Given the description of an element on the screen output the (x, y) to click on. 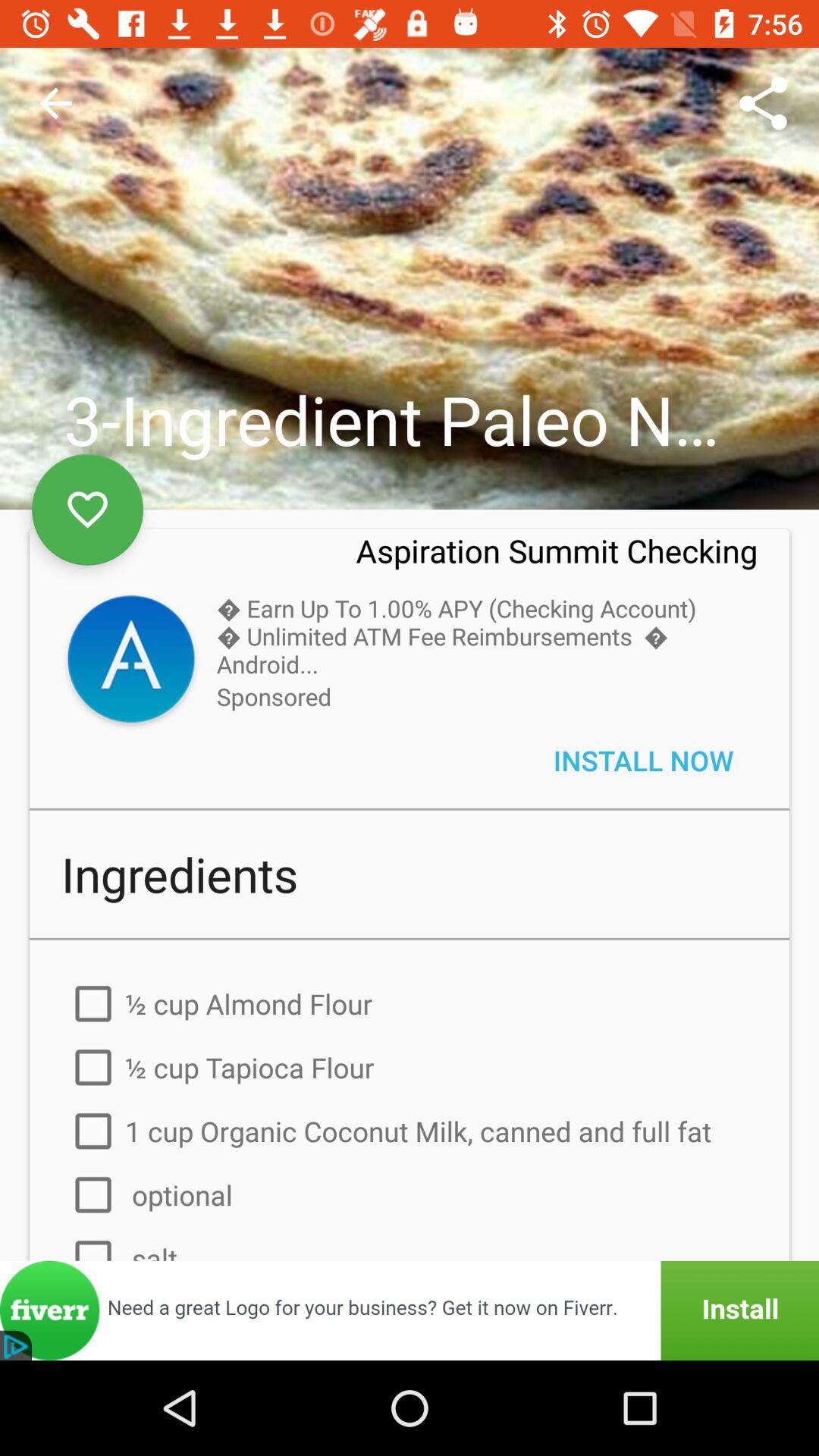
save recipe (87, 509)
